Given the description of an element on the screen output the (x, y) to click on. 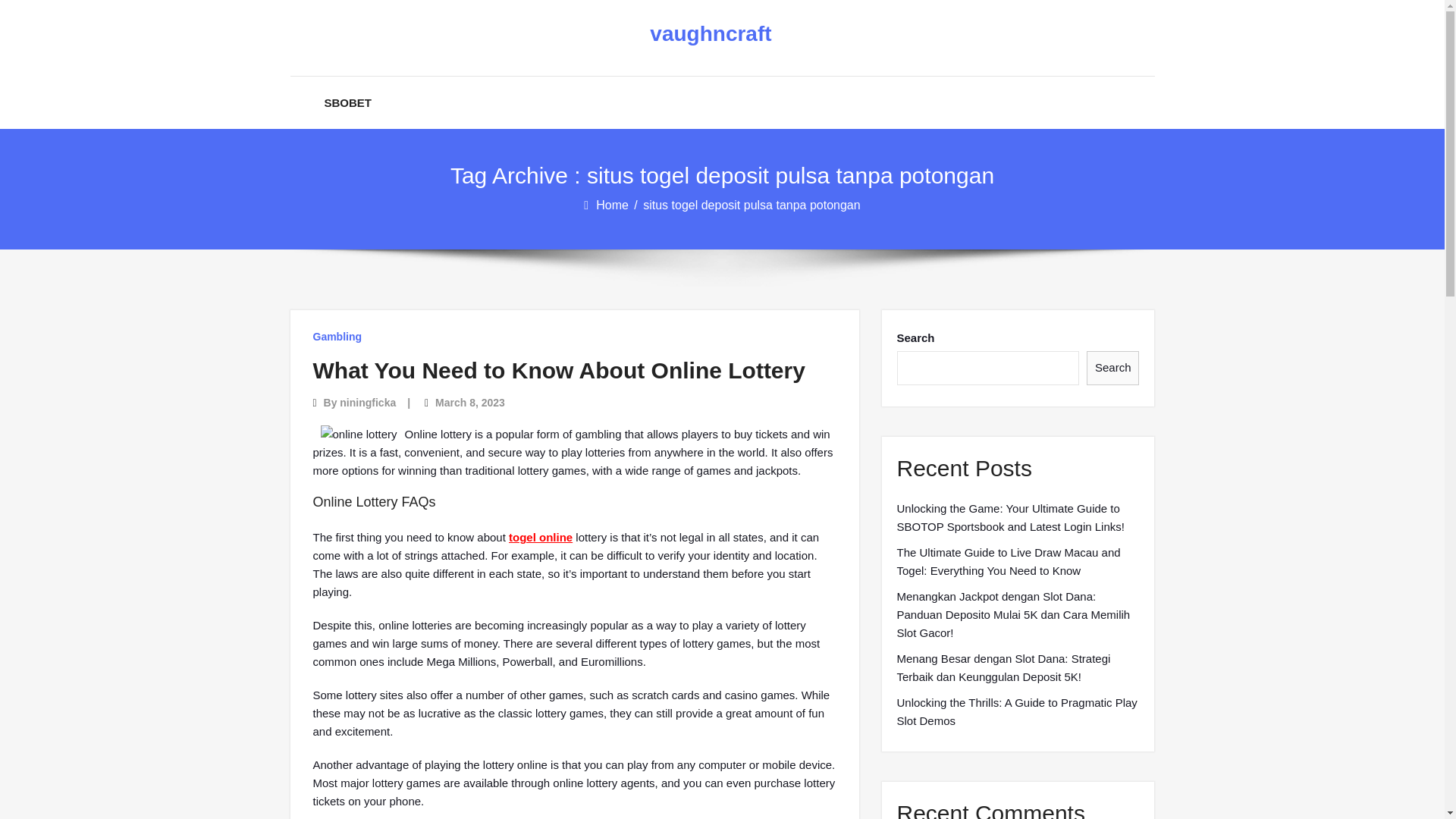
Search (1113, 367)
togel online (540, 536)
Unlocking the Thrills: A Guide to Pragmatic Play Slot Demos (1017, 711)
March 8, 2023 (470, 402)
Gambling (337, 336)
niningficka (367, 402)
vaughncraft (710, 34)
What You Need to Know About Online Lottery (559, 370)
